Given the description of an element on the screen output the (x, y) to click on. 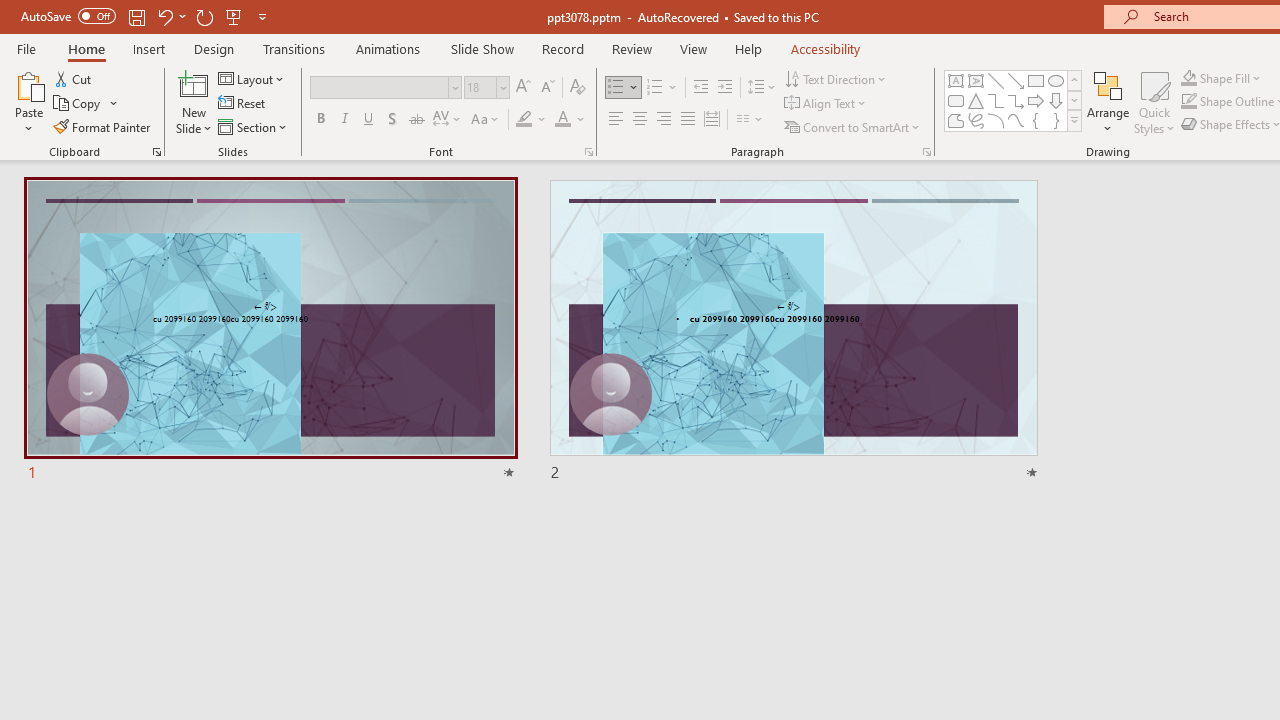
Oval (1055, 80)
Distributed (712, 119)
Convert to SmartArt (853, 126)
AutomationID: ShapesInsertGallery (1014, 100)
Curve (1016, 120)
Cut (73, 78)
